Given the description of an element on the screen output the (x, y) to click on. 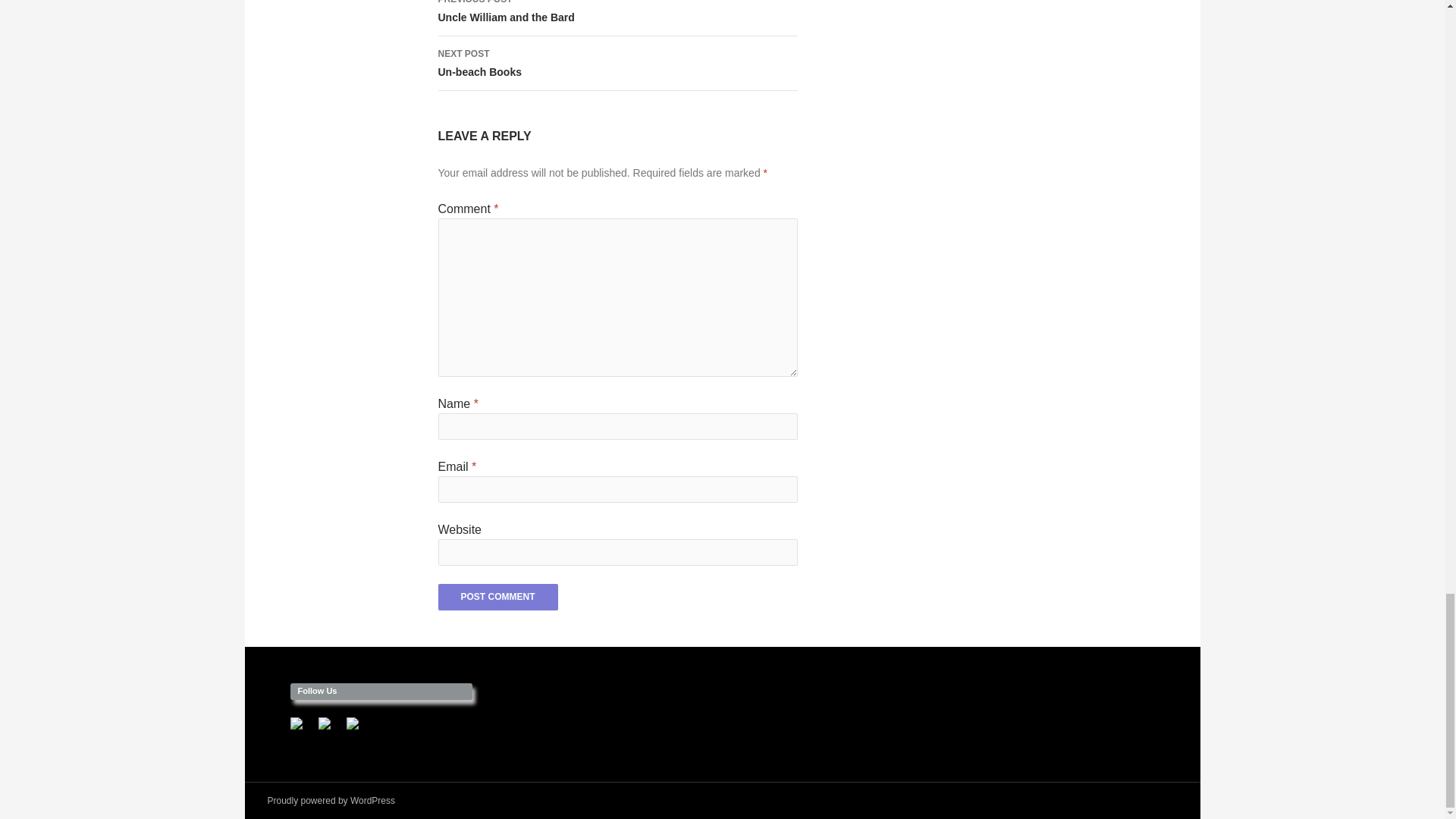
Follow us on Facebook (301, 729)
Post Comment (497, 596)
